Given the description of an element on the screen output the (x, y) to click on. 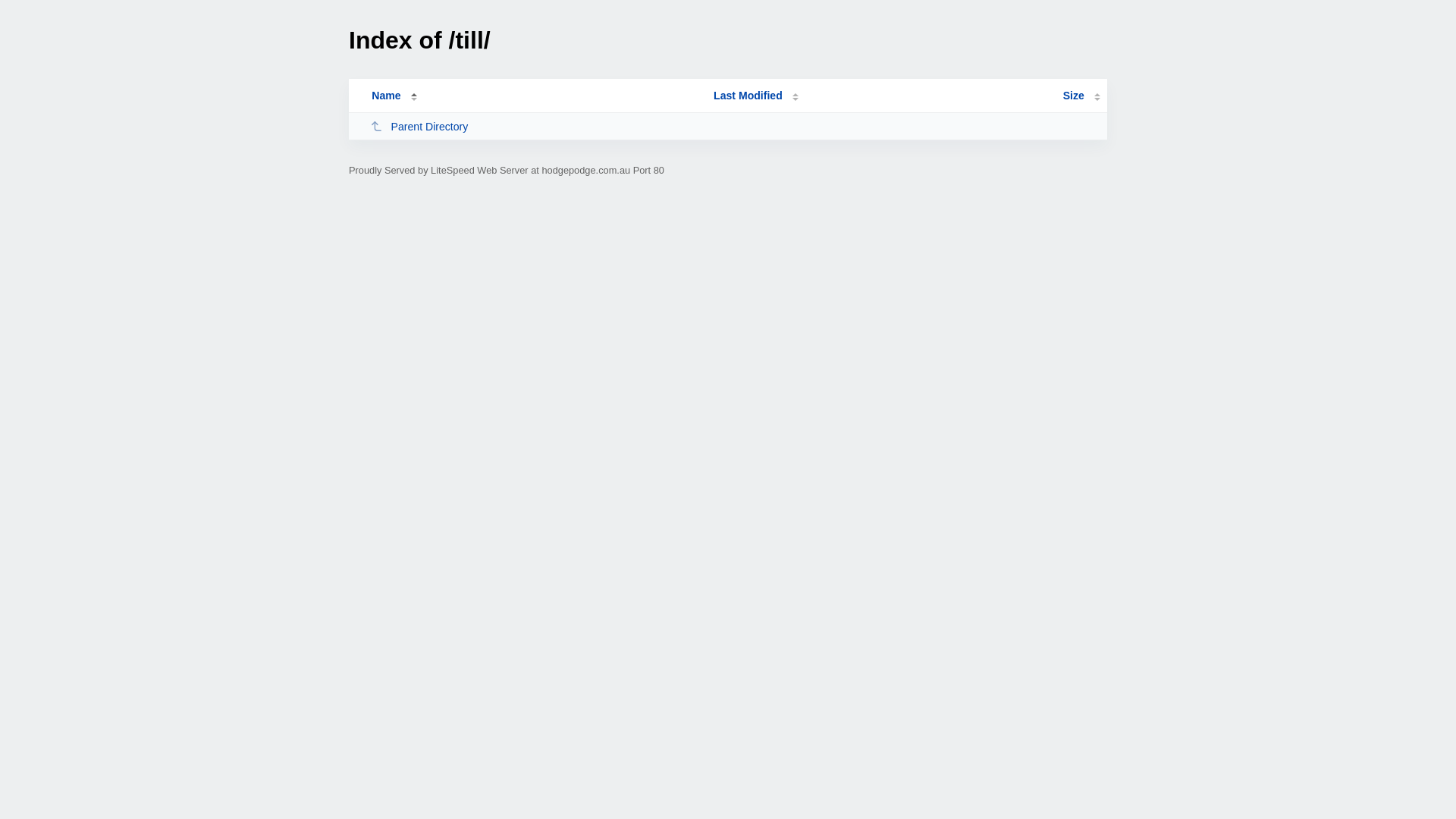
Name Element type: text (385, 95)
Parent Directory Element type: text (534, 125)
Last Modified Element type: text (755, 95)
Size Element type: text (1081, 95)
